Given the description of an element on the screen output the (x, y) to click on. 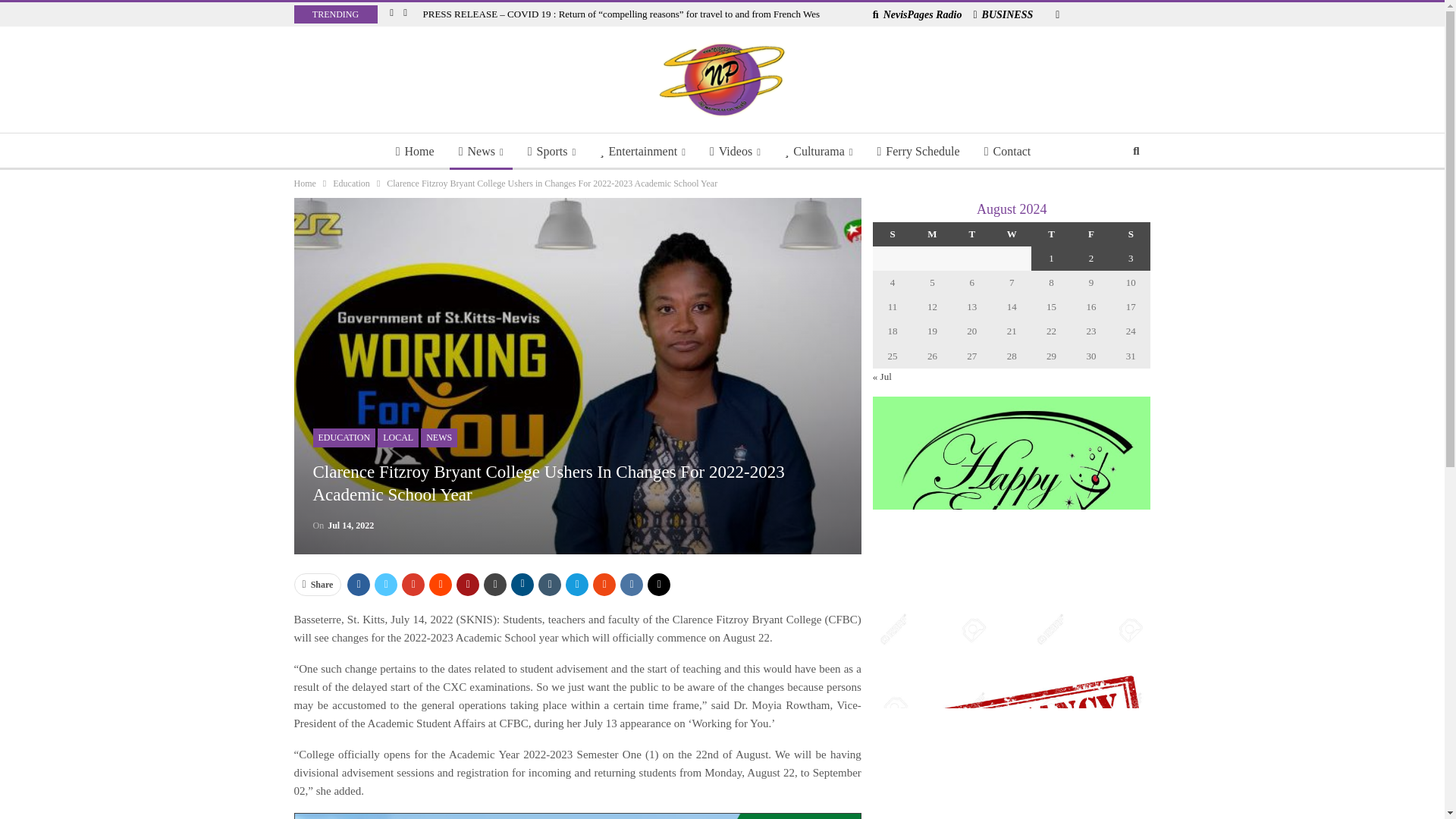
NevisPages Radio (917, 14)
News (480, 151)
BUSINESS (1002, 14)
Home (415, 151)
